Given the description of an element on the screen output the (x, y) to click on. 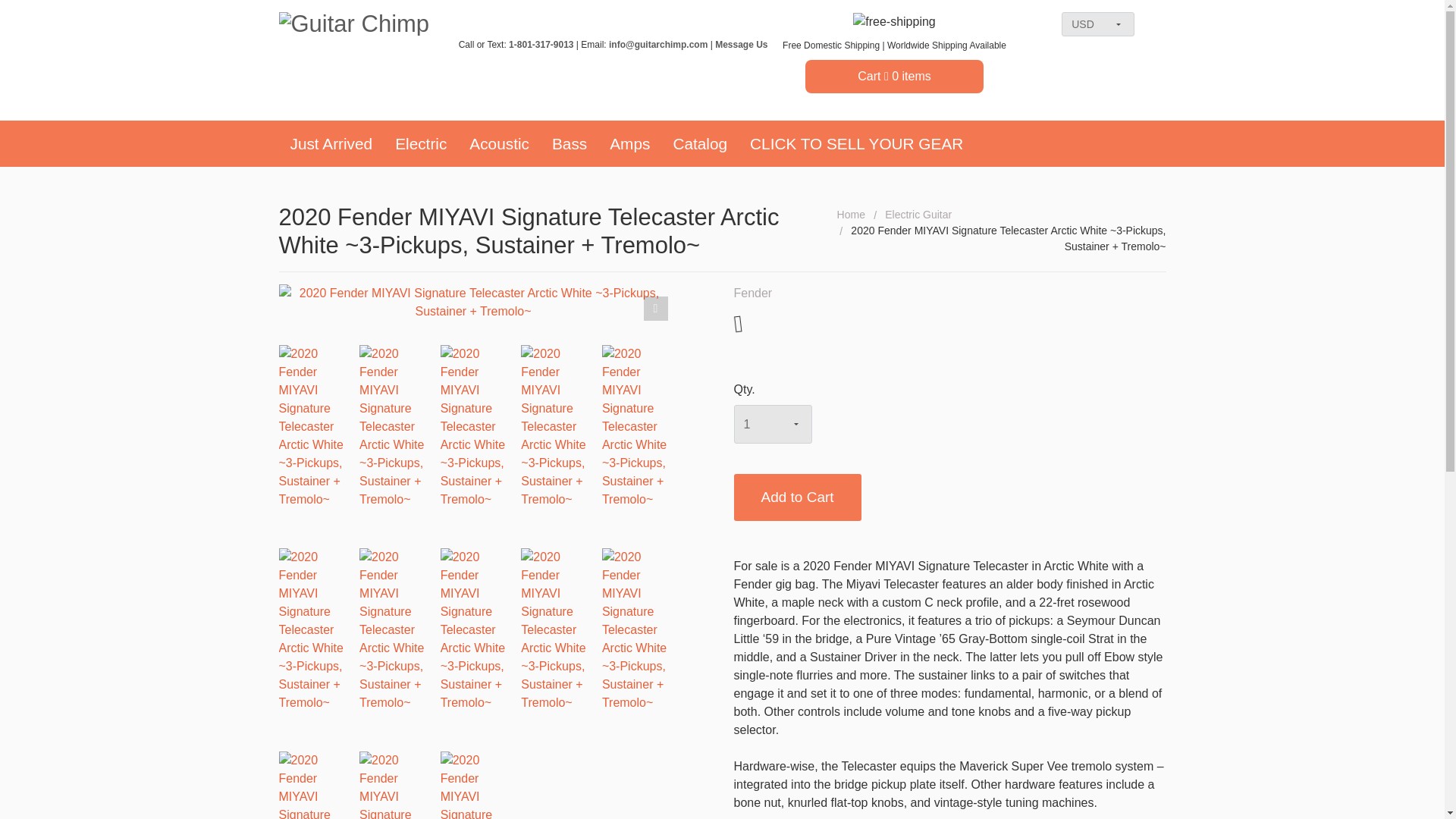
Catalog (699, 143)
Acoustic (499, 143)
Just Arrived (331, 143)
Home (850, 214)
Electric Guitar (918, 214)
CLICK TO SELL YOUR GEAR (856, 143)
Electric (421, 143)
Bass (569, 143)
Fender (753, 292)
1-801-317-9013 (540, 44)
